Given the description of an element on the screen output the (x, y) to click on. 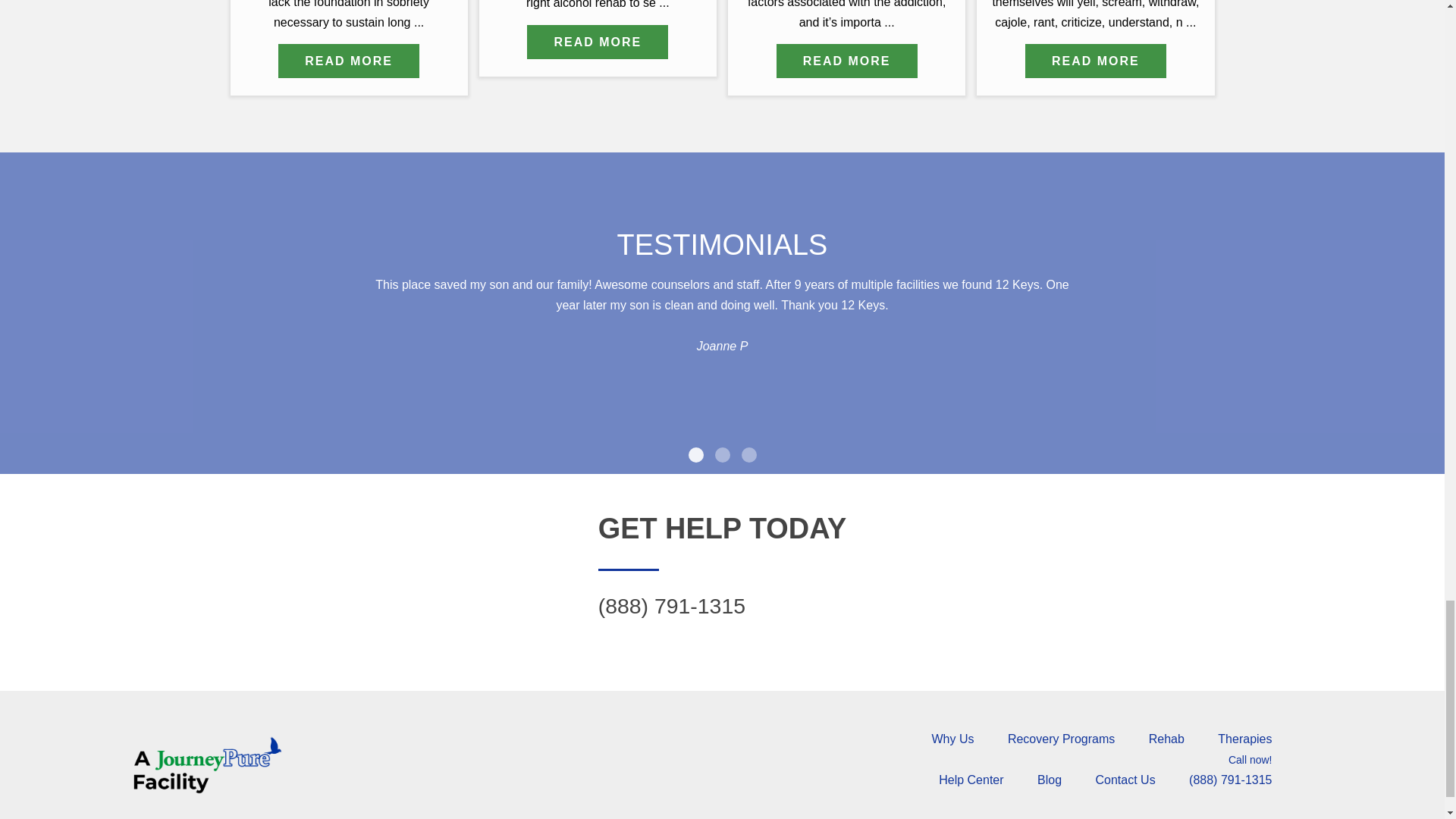
Entering alcohol rehab: Have I made the right choice? (597, 41)
